Given the description of an element on the screen output the (x, y) to click on. 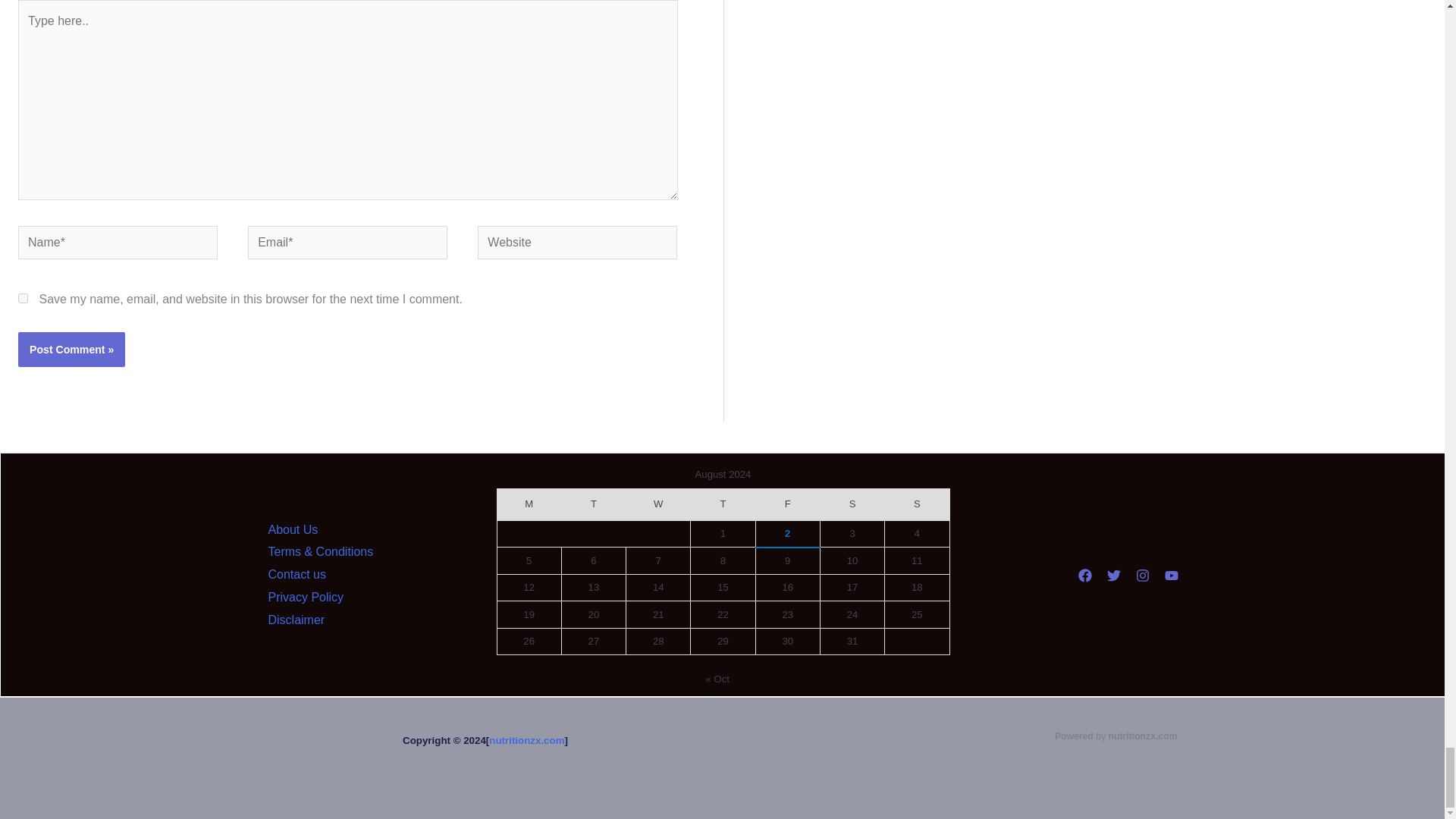
Thursday (722, 504)
Monday (528, 504)
Friday (787, 504)
Saturday (851, 504)
yes (22, 298)
Tuesday (593, 504)
Sunday (917, 504)
Wednesday (658, 504)
